Given the description of an element on the screen output the (x, y) to click on. 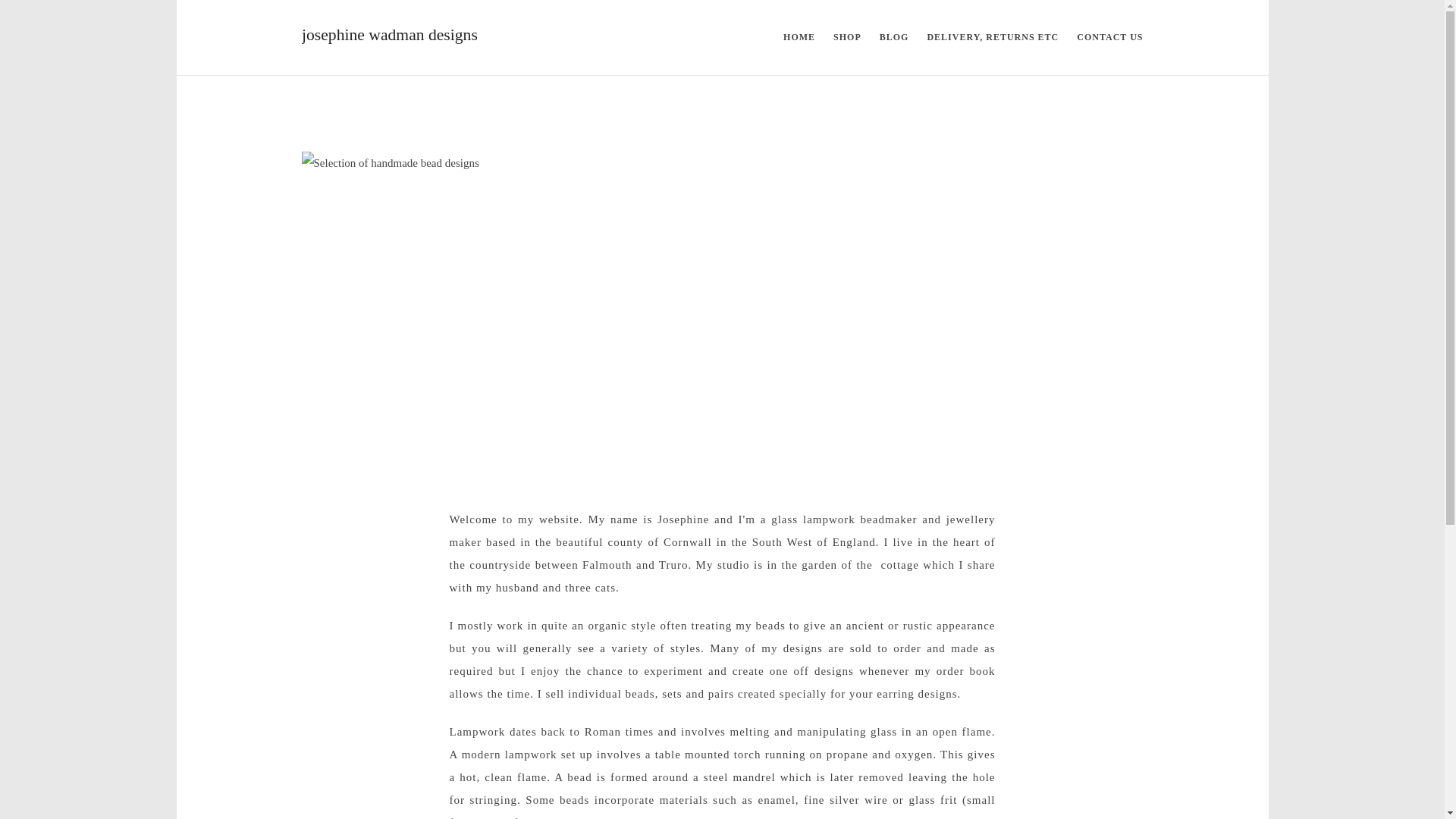
HOME (799, 37)
josephine wadman designs (415, 37)
SHOP (847, 37)
BLOG (894, 37)
DELIVERY, RETURNS ETC (992, 37)
CONTACT US (1109, 37)
josephine wadman designs (415, 36)
